Given the description of an element on the screen output the (x, y) to click on. 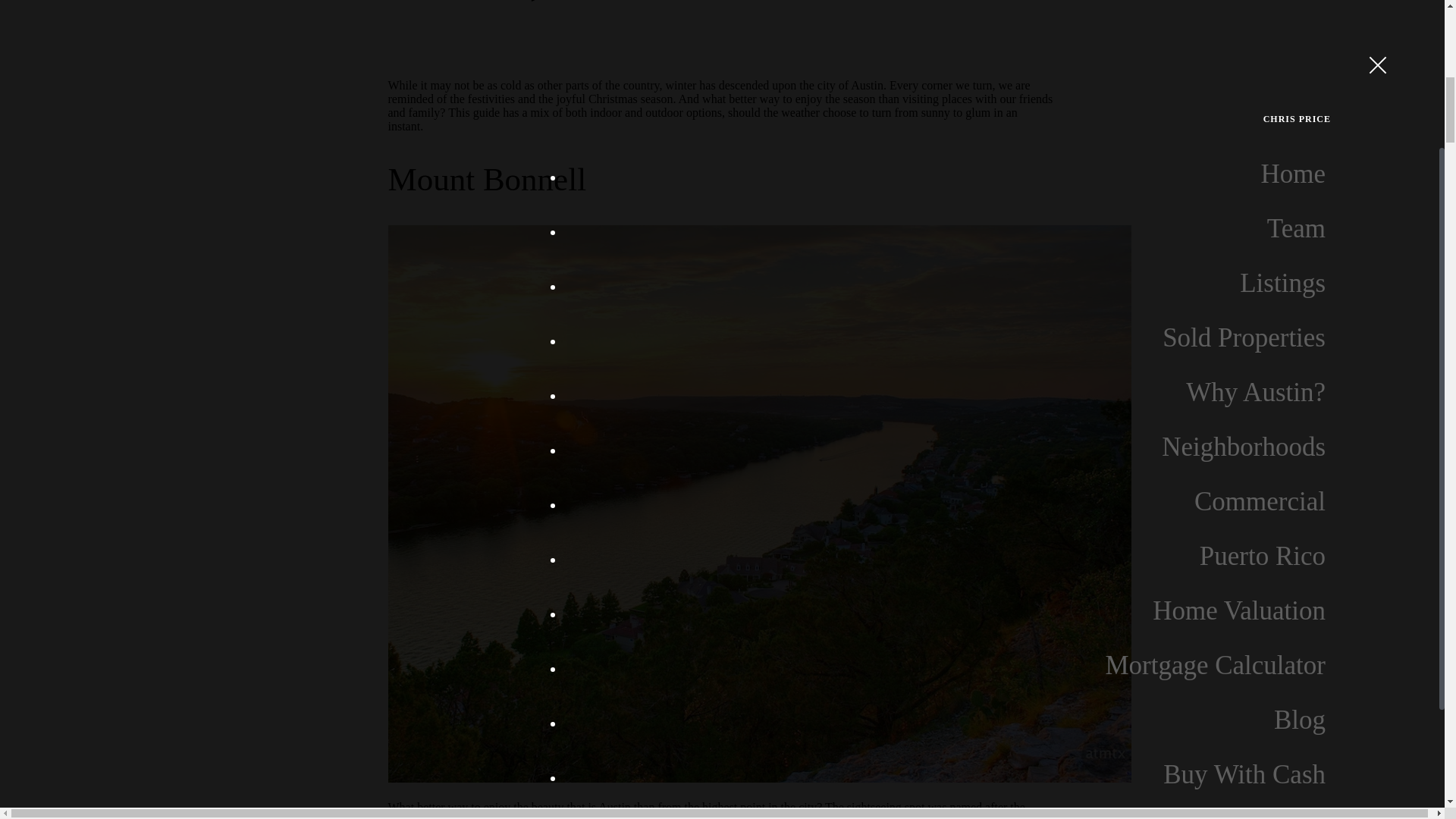
Contact (1339, 20)
Join Us (1341, 67)
